Given the description of an element on the screen output the (x, y) to click on. 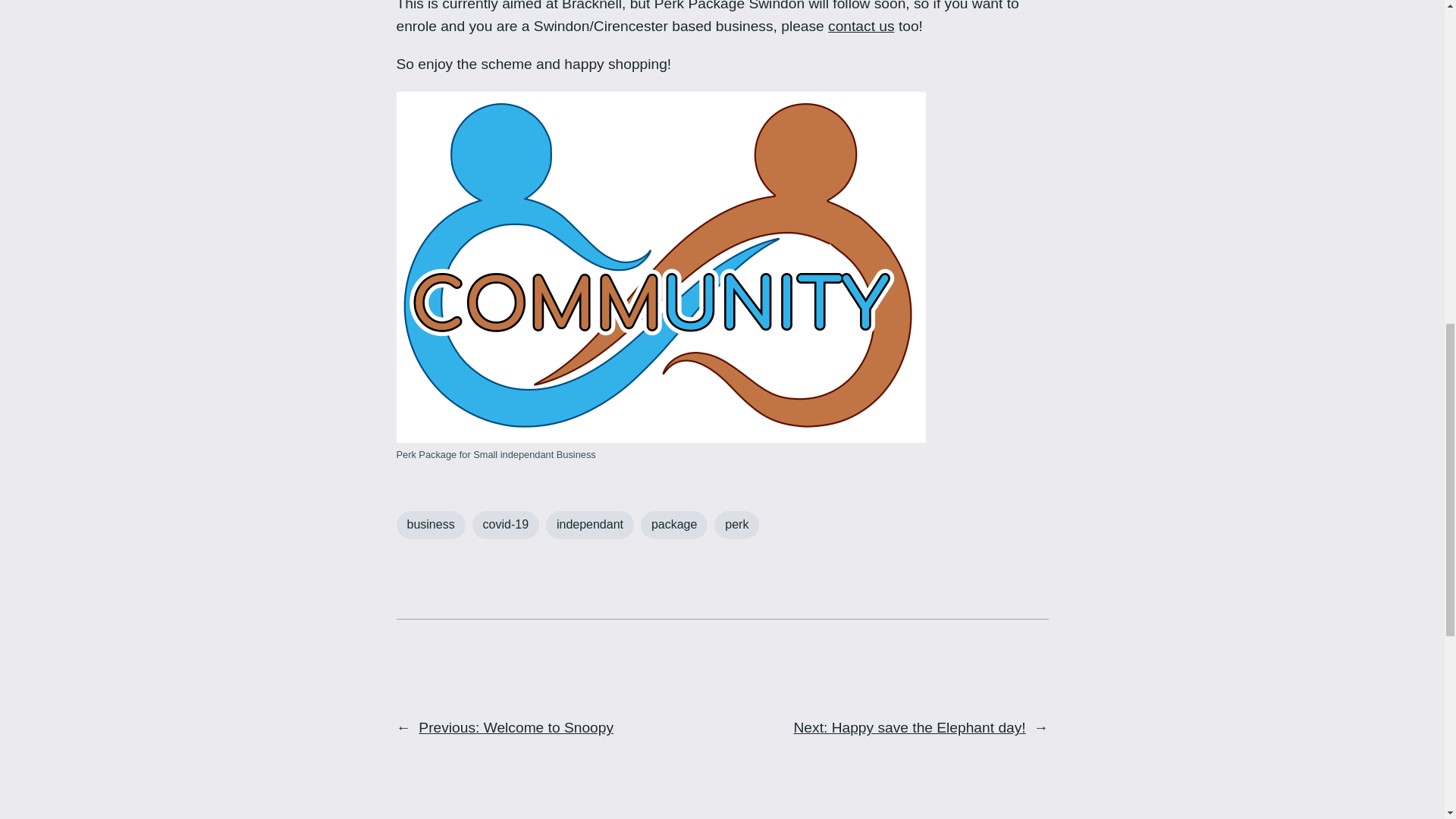
perk (736, 524)
covid-19 (504, 524)
package (673, 524)
independant (589, 524)
Previous: Welcome to Snoopy (515, 727)
business (430, 524)
Next: Happy save the Elephant day! (909, 727)
contact us (860, 26)
